Given the description of an element on the screen output the (x, y) to click on. 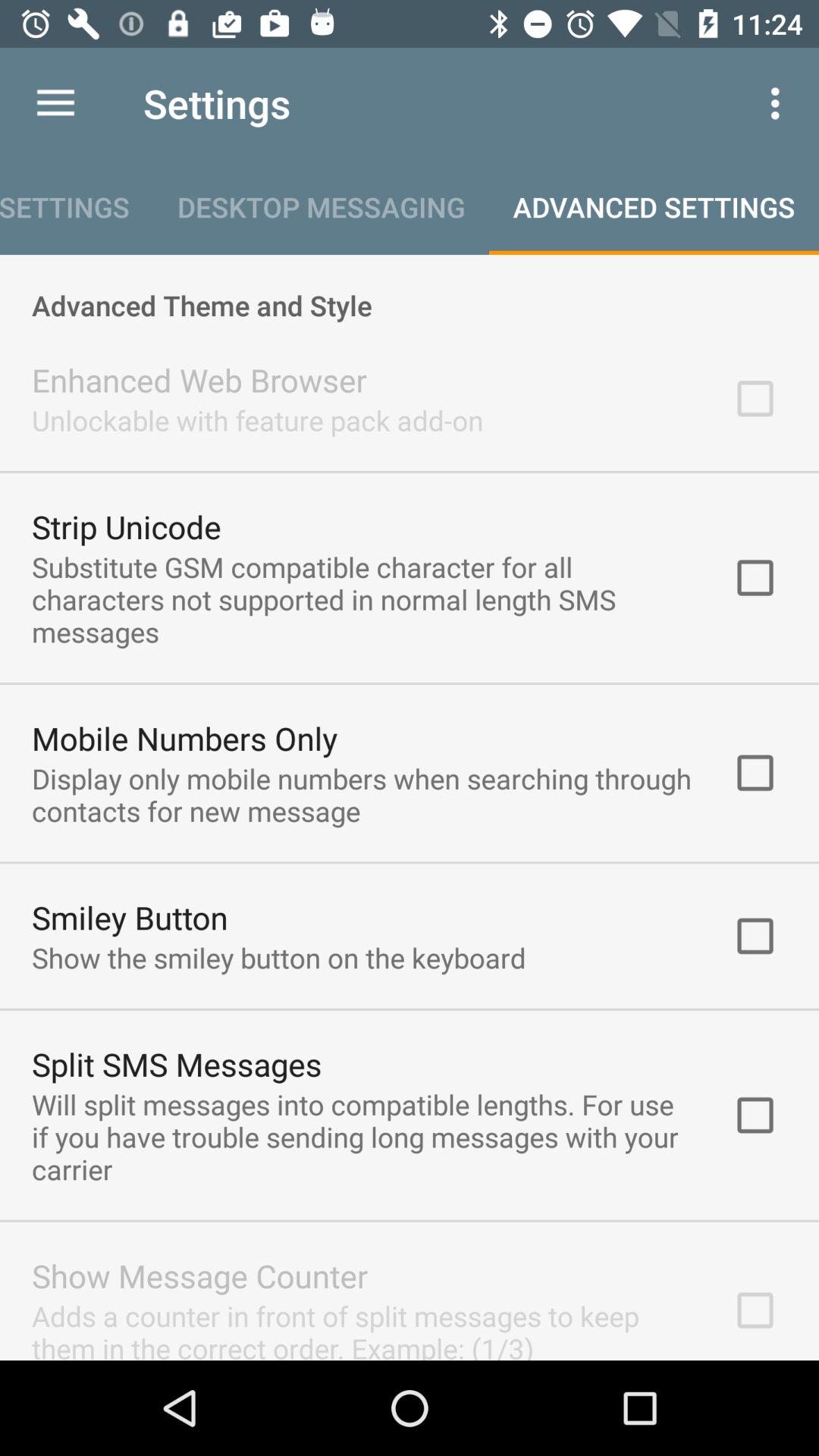
open advanced theme and (409, 289)
